Given the description of an element on the screen output the (x, y) to click on. 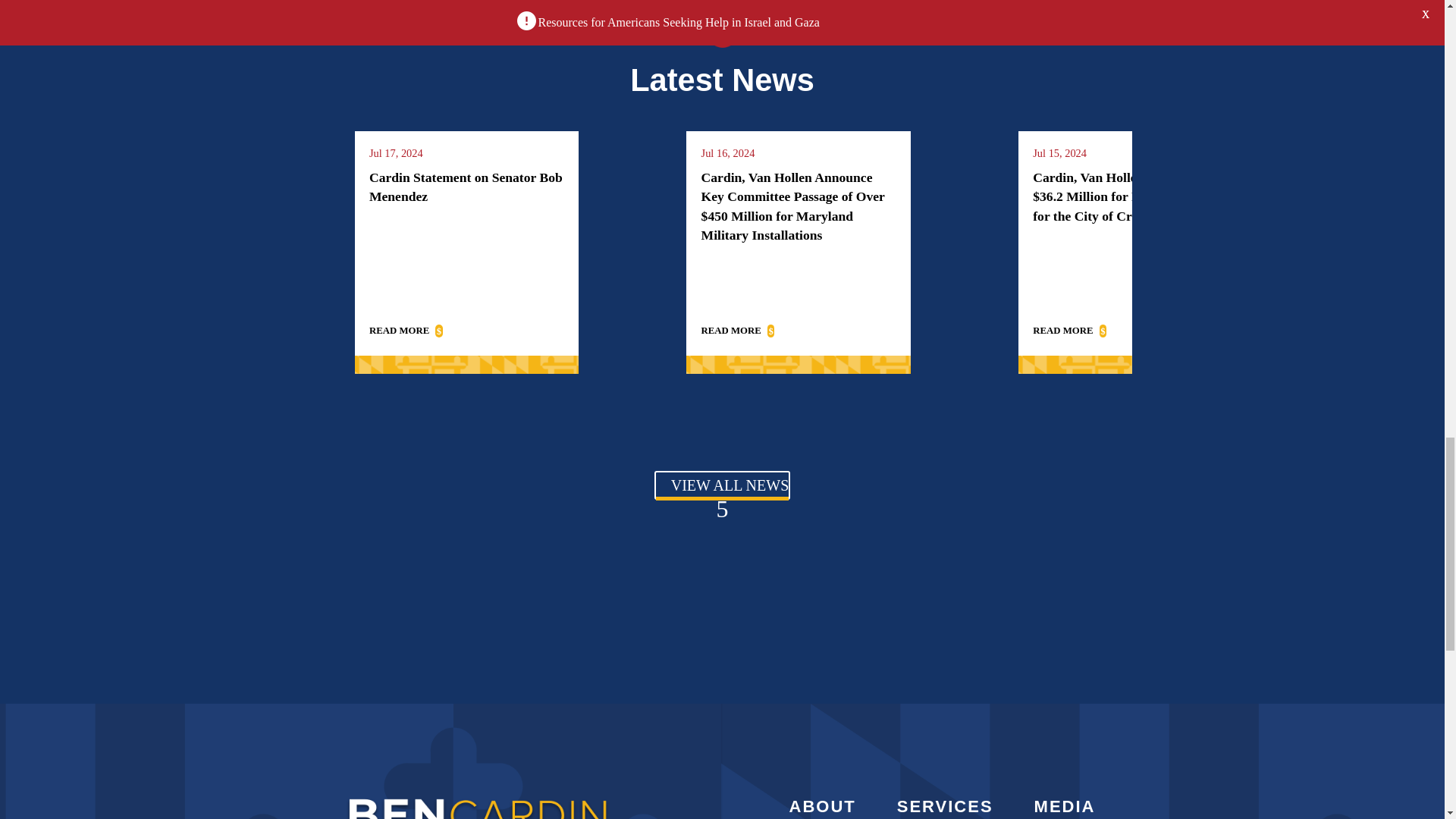
Footer (478, 804)
Crab (721, 32)
